Given the description of an element on the screen output the (x, y) to click on. 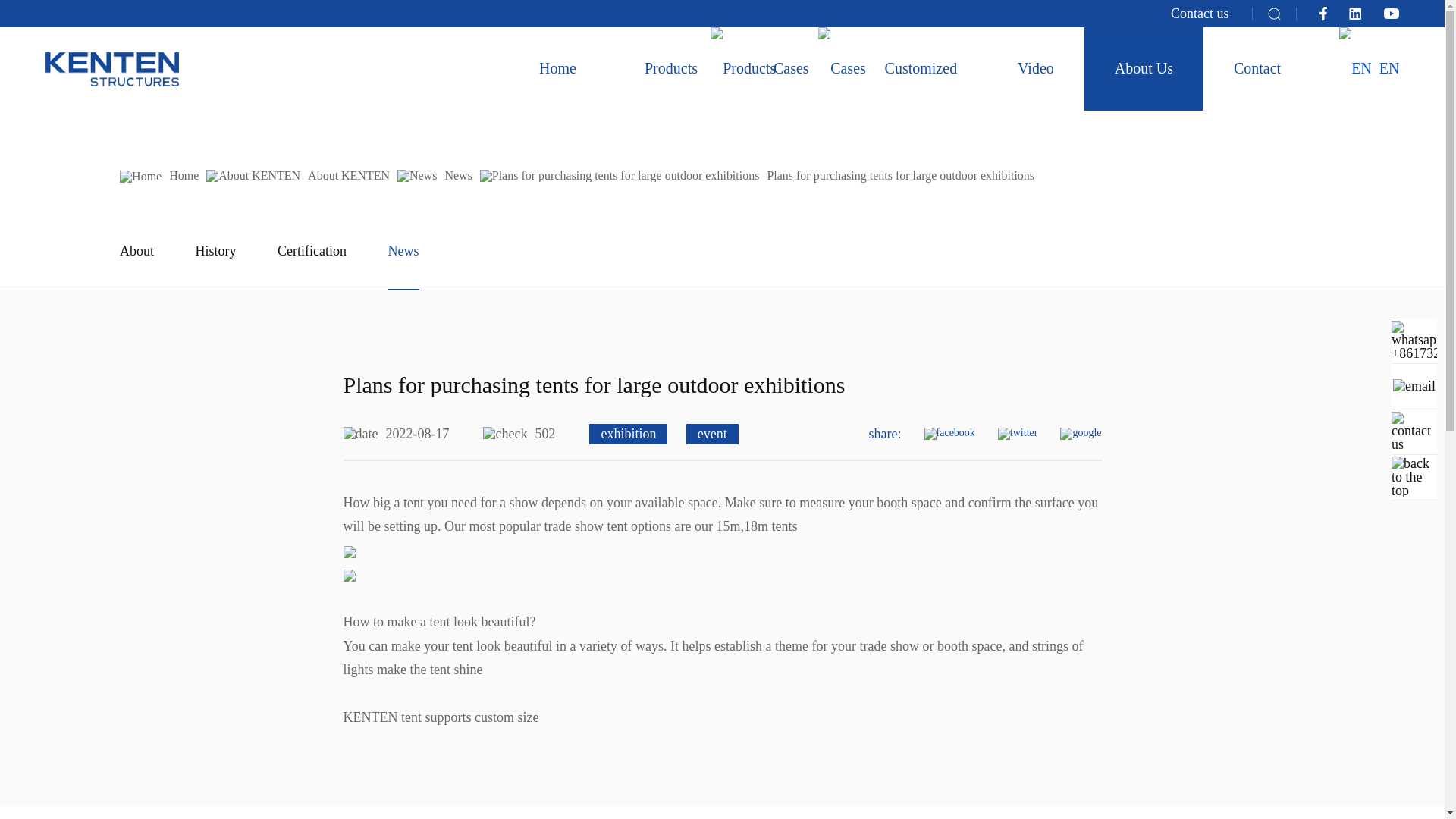
Home (557, 68)
Cases (791, 68)
youtube (1391, 13)
Products (671, 68)
Products (671, 68)
Structure Tent (112, 69)
KENTEN LinkedIn (1355, 13)
Contact us (1199, 13)
Home (557, 68)
search (1274, 13)
